Given the description of an element on the screen output the (x, y) to click on. 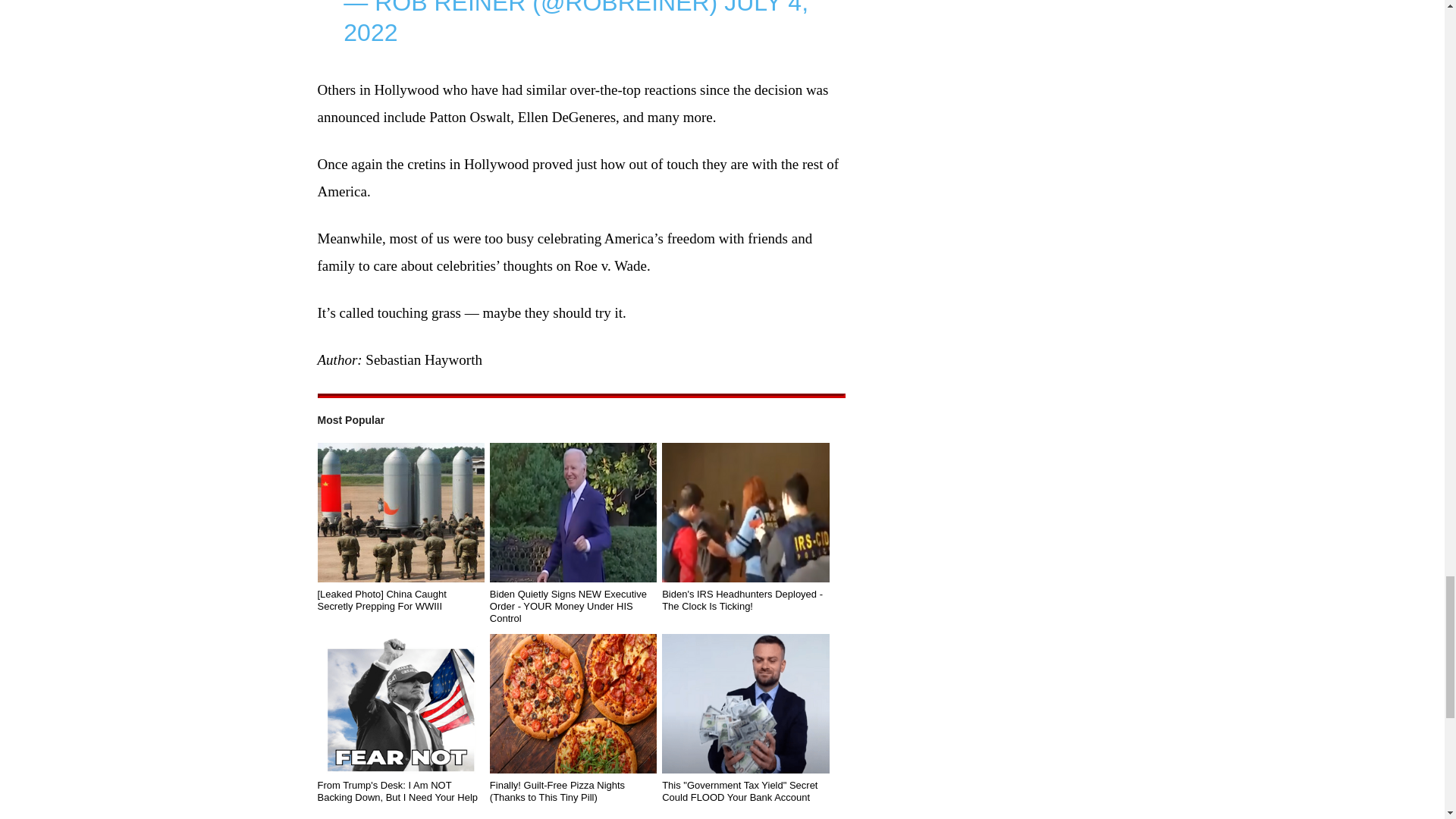
This  (745, 703)
Biden's IRS Headhunters Deployed - The Clock Is Ticking! (745, 512)
JULY 4, 2022 (575, 22)
Biden's IRS Headhunters Deployed - The Clock Is Ticking! (745, 600)
